Given the description of an element on the screen output the (x, y) to click on. 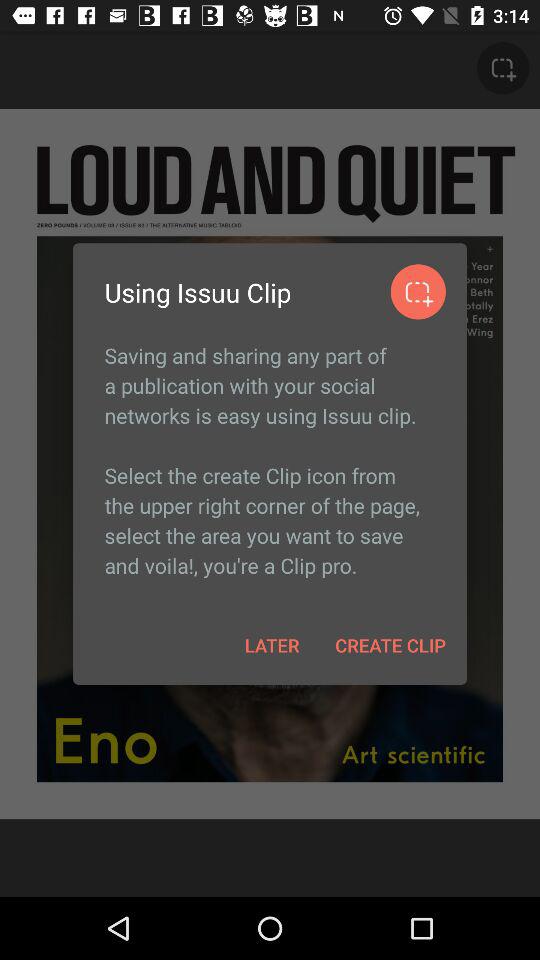
click the item to the left of the create clip icon (272, 644)
